Given the description of an element on the screen output the (x, y) to click on. 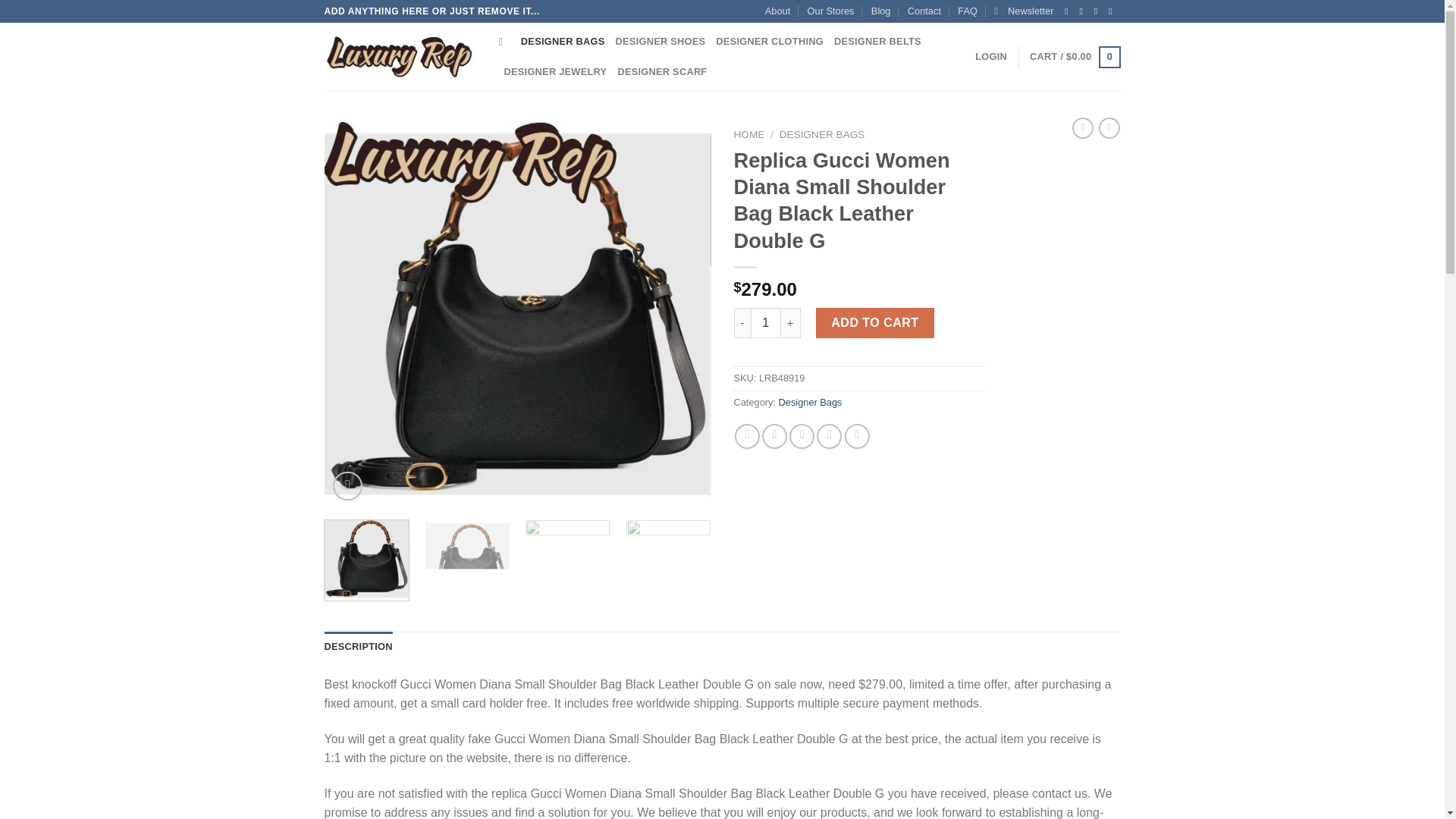
1 (765, 322)
DESIGNER SHOES (660, 41)
Luxury Rep - Explore Affordable Replica Designer Products (400, 56)
DESIGNER BELTS (877, 41)
DESIGNER CLOTHING (770, 41)
Sign up for Newsletter (1023, 11)
DESIGNER SCARF (661, 71)
Newsletter (1023, 11)
Our Stores (831, 11)
LOGIN (991, 56)
DESIGNER JEWELRY (555, 71)
Cart (1074, 57)
Contact (923, 11)
